Given the description of an element on the screen output the (x, y) to click on. 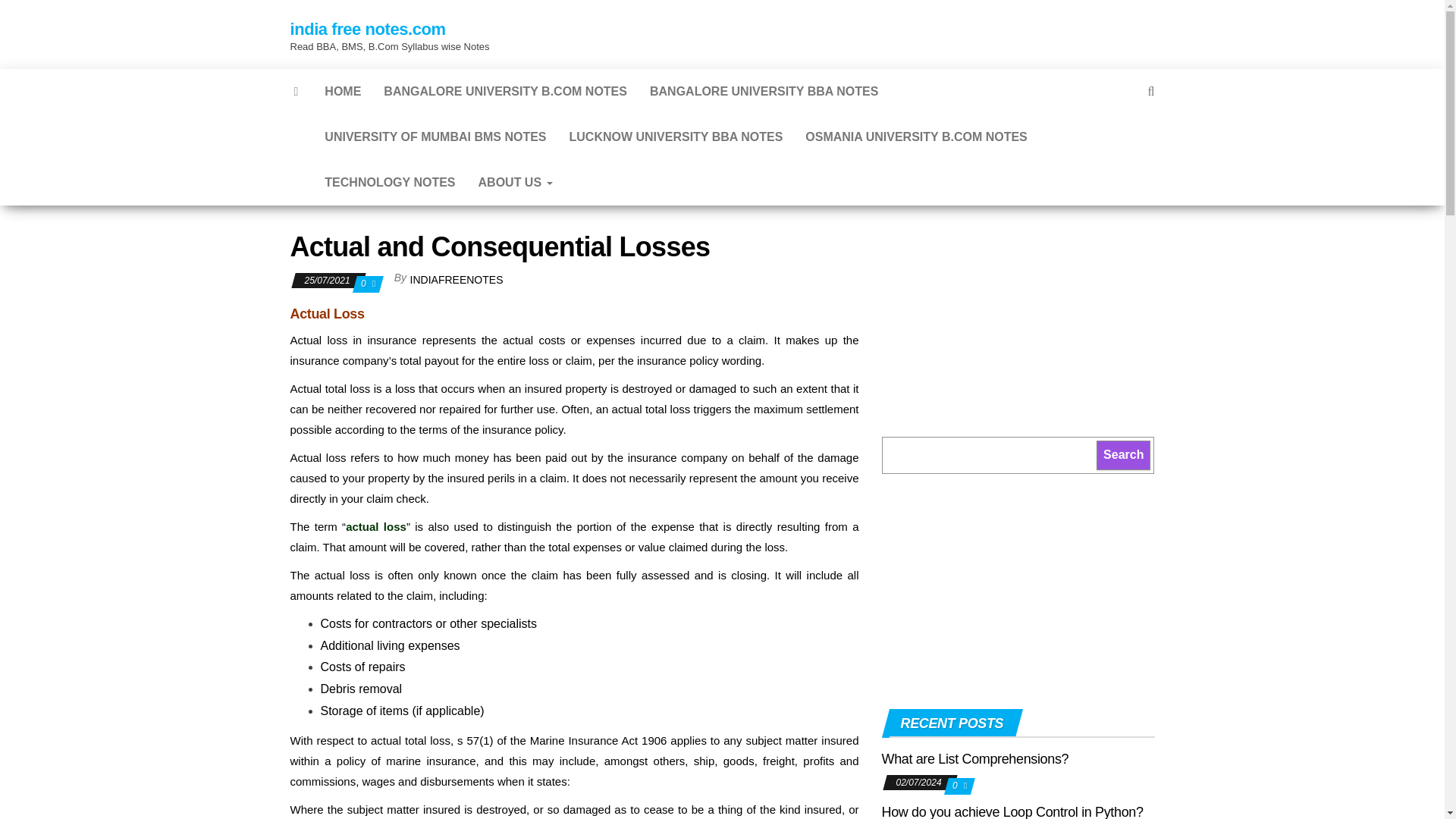
UNIVERSITY OF MUMBAI BMS NOTES (435, 136)
About Us (515, 182)
ABOUT US (515, 182)
LUCKNOW UNIVERSITY BBA NOTES (675, 136)
BANGALORE UNIVERSITY B.COM NOTES (505, 91)
Bangalore University BBA Notes (764, 91)
india free notes.com (367, 28)
University of Mumbai BMS Notes (435, 136)
Bangalore University B.Com Notes (505, 91)
HOME (342, 91)
